Given the description of an element on the screen output the (x, y) to click on. 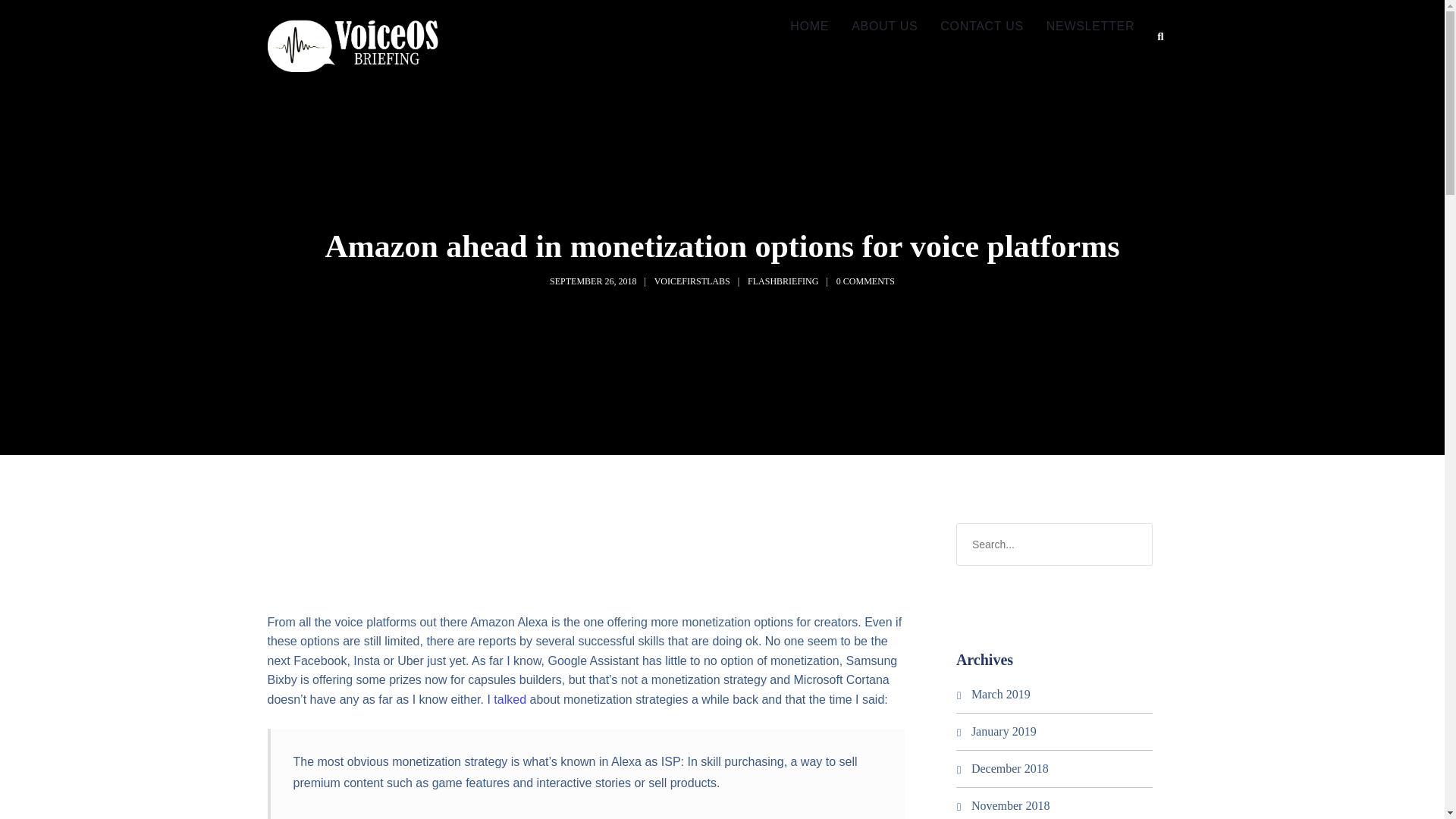
talked (509, 698)
ABOUT US (884, 26)
November 2018 (1010, 805)
VOICEFIRSTLABS (691, 281)
CONTACT US (981, 26)
Submit (32, 22)
0 COMMENTS (865, 281)
VoiceFirst Weekly (352, 45)
Submit (29, 20)
HOME (809, 26)
